Given the description of an element on the screen output the (x, y) to click on. 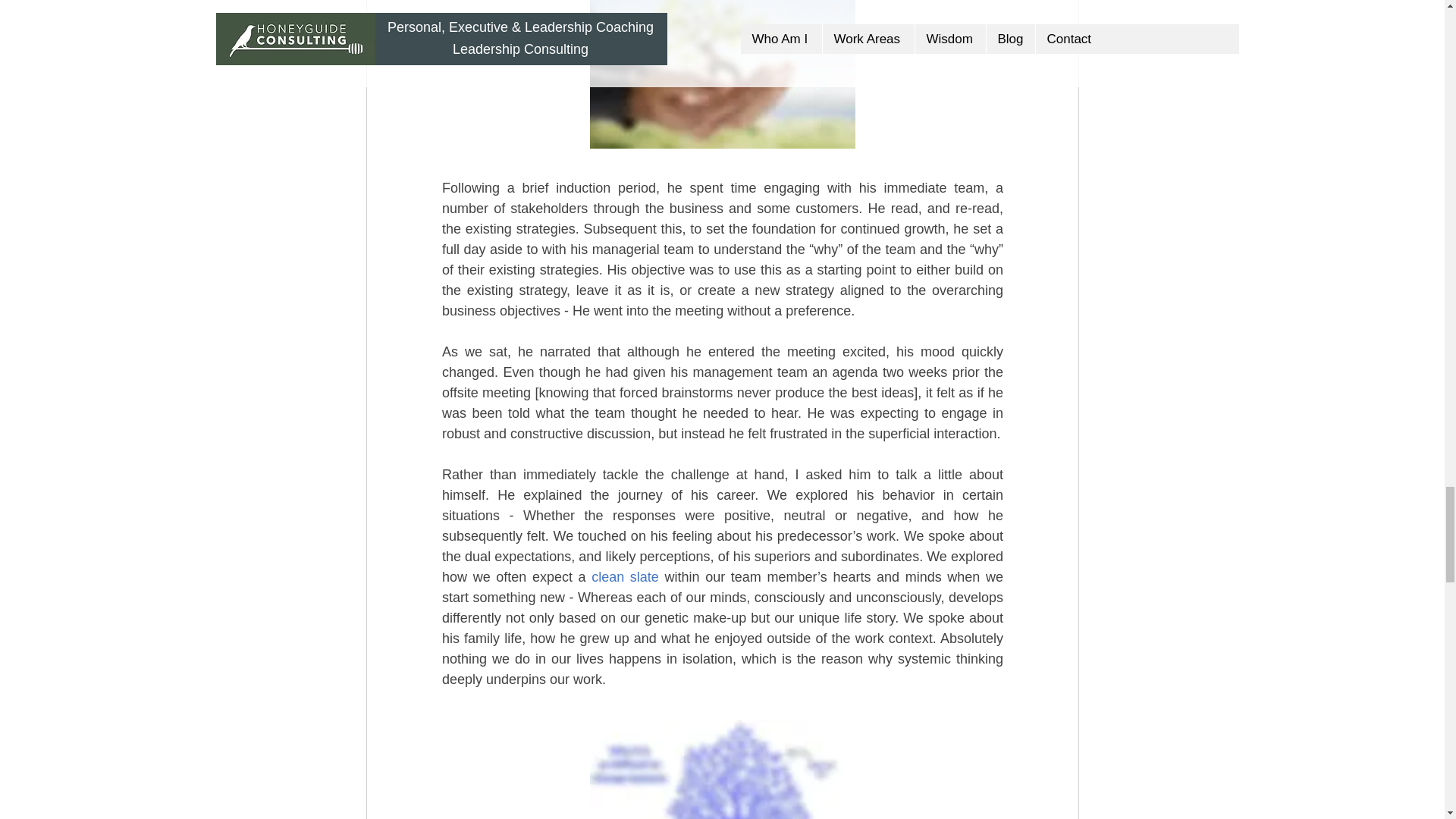
clean slate (625, 576)
